Given the description of an element on the screen output the (x, y) to click on. 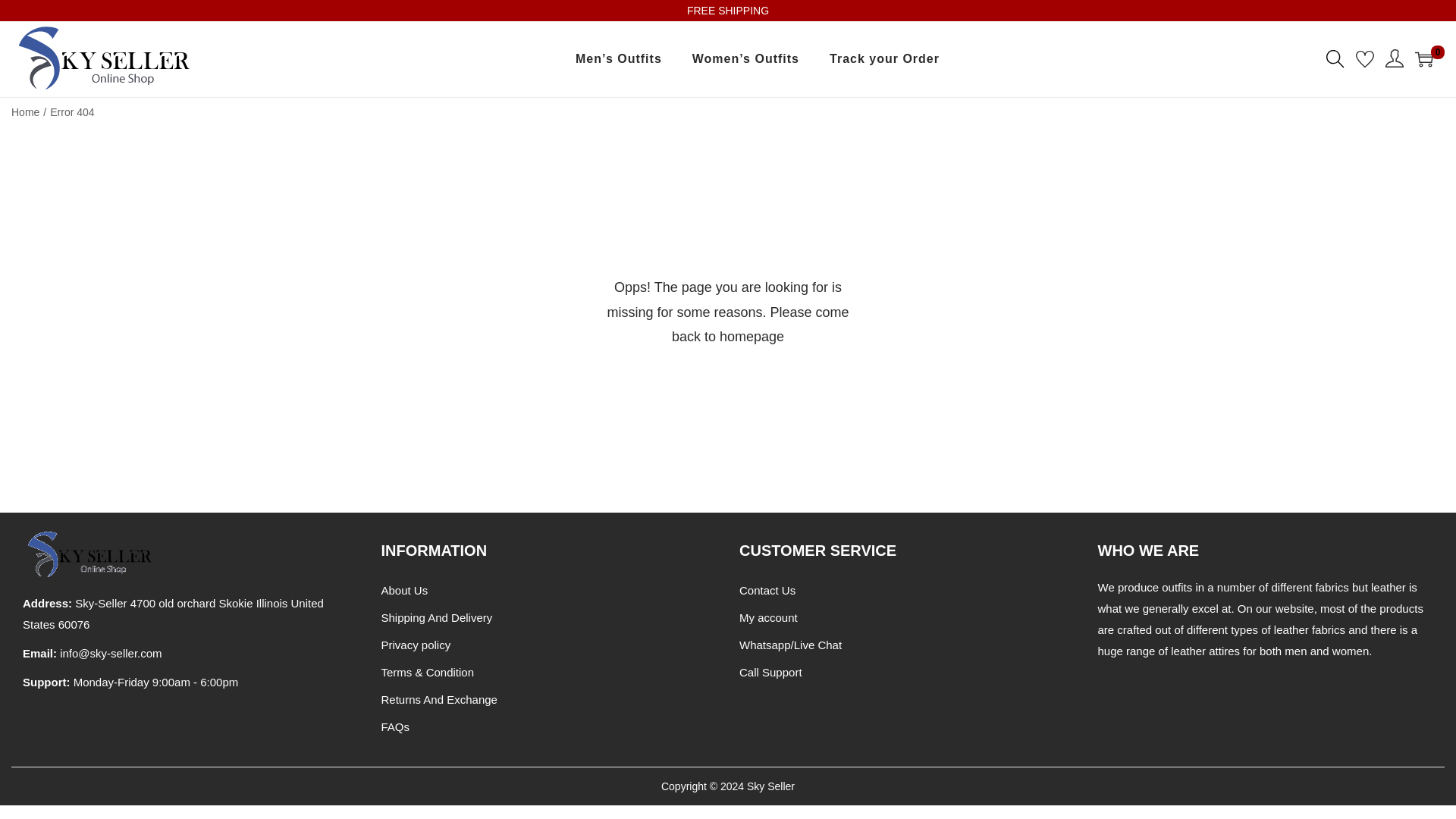
FAQs (394, 726)
Privacy policy (414, 644)
Track your Order (884, 59)
Contact Us (766, 590)
Call Support (770, 671)
Returns And Exchange (438, 698)
Shipping And Delivery (436, 617)
Log in (638, 491)
My account (768, 617)
0 (1423, 58)
